Given the description of an element on the screen output the (x, y) to click on. 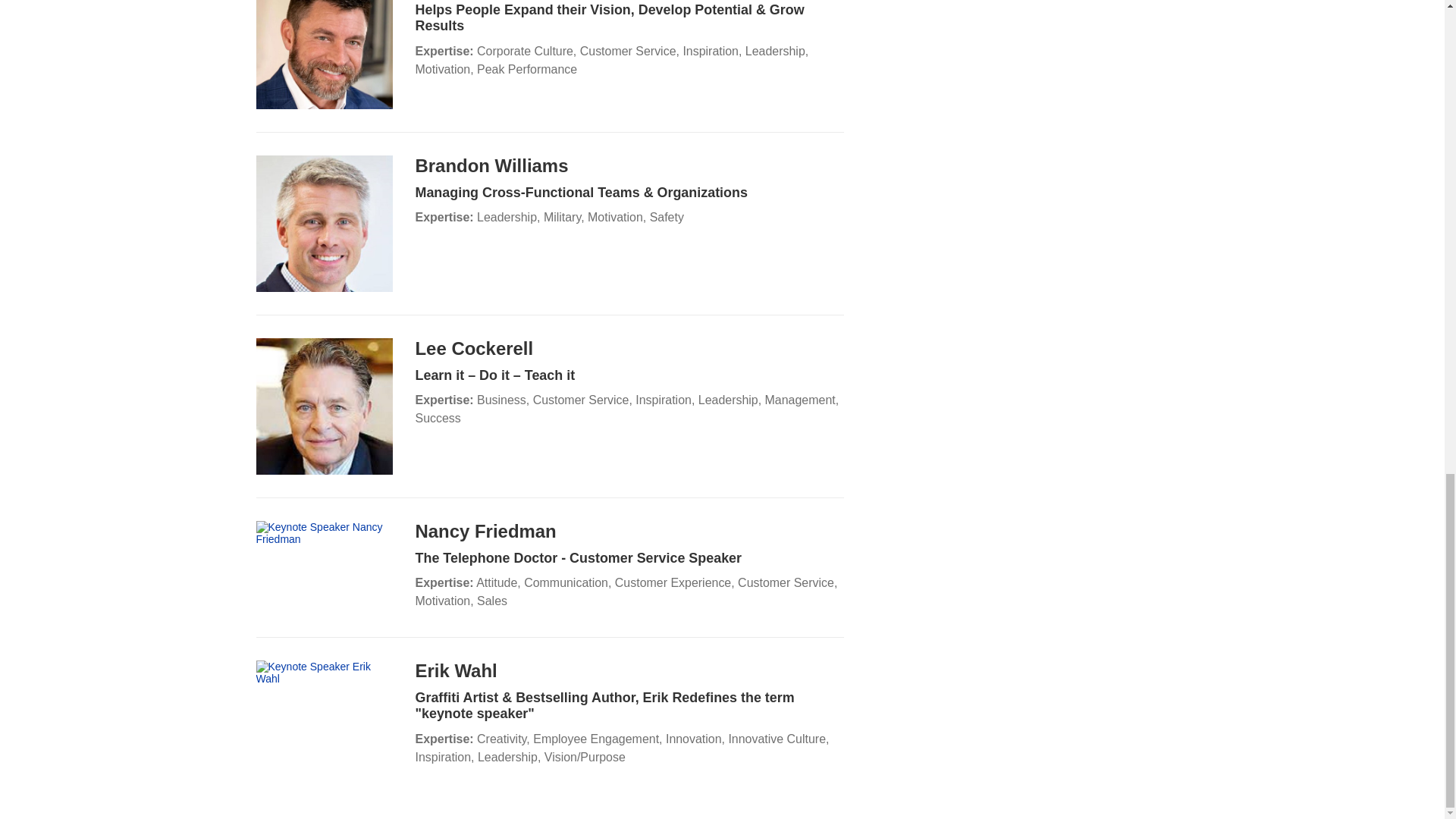
Brandon Williams (491, 165)
